Given the description of an element on the screen output the (x, y) to click on. 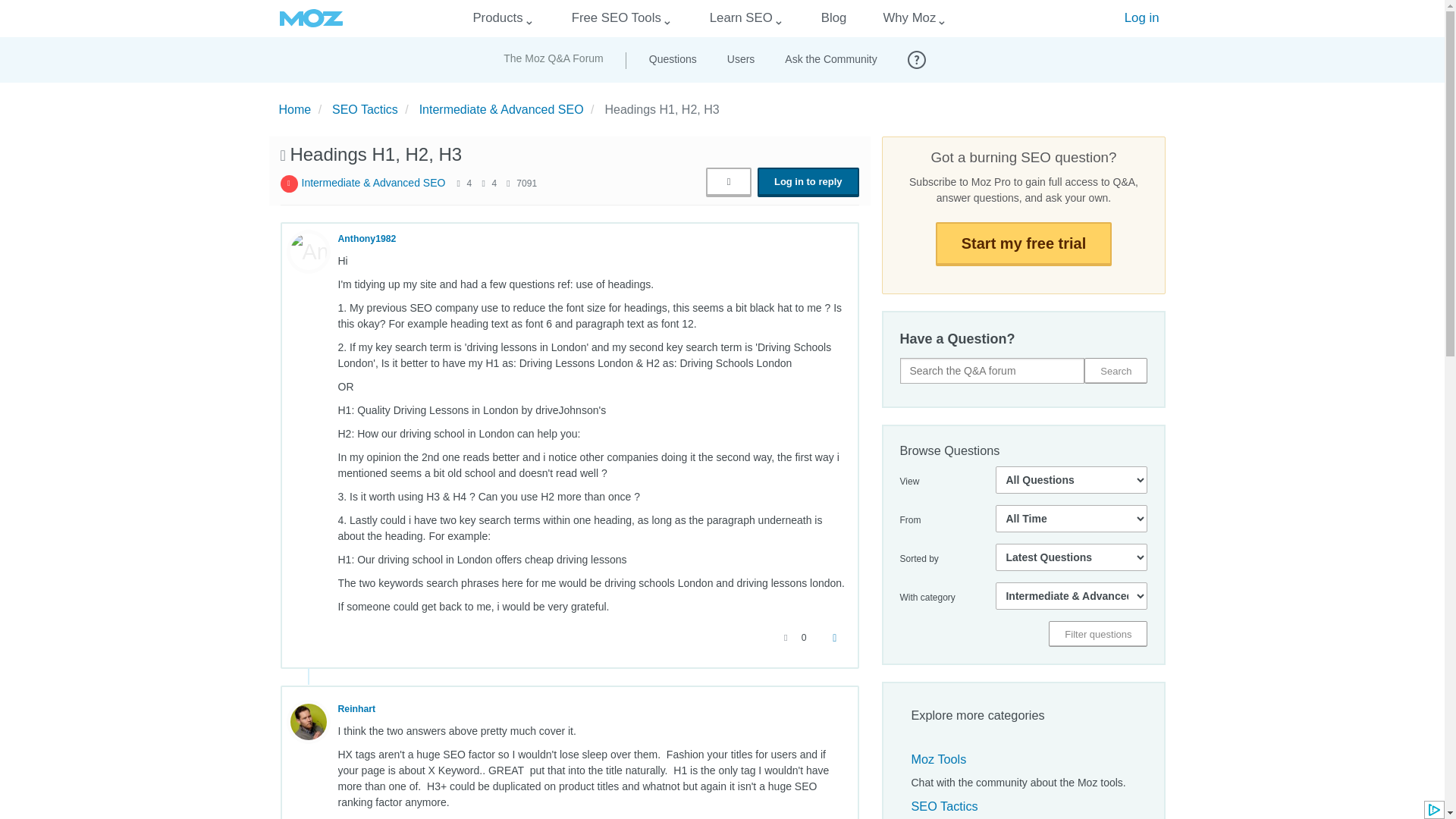
Products (496, 18)
Moz Home (311, 18)
Moz logo (311, 18)
Moz logo (311, 18)
Search (1115, 370)
Filter questions (1097, 633)
